Given the description of an element on the screen output the (x, y) to click on. 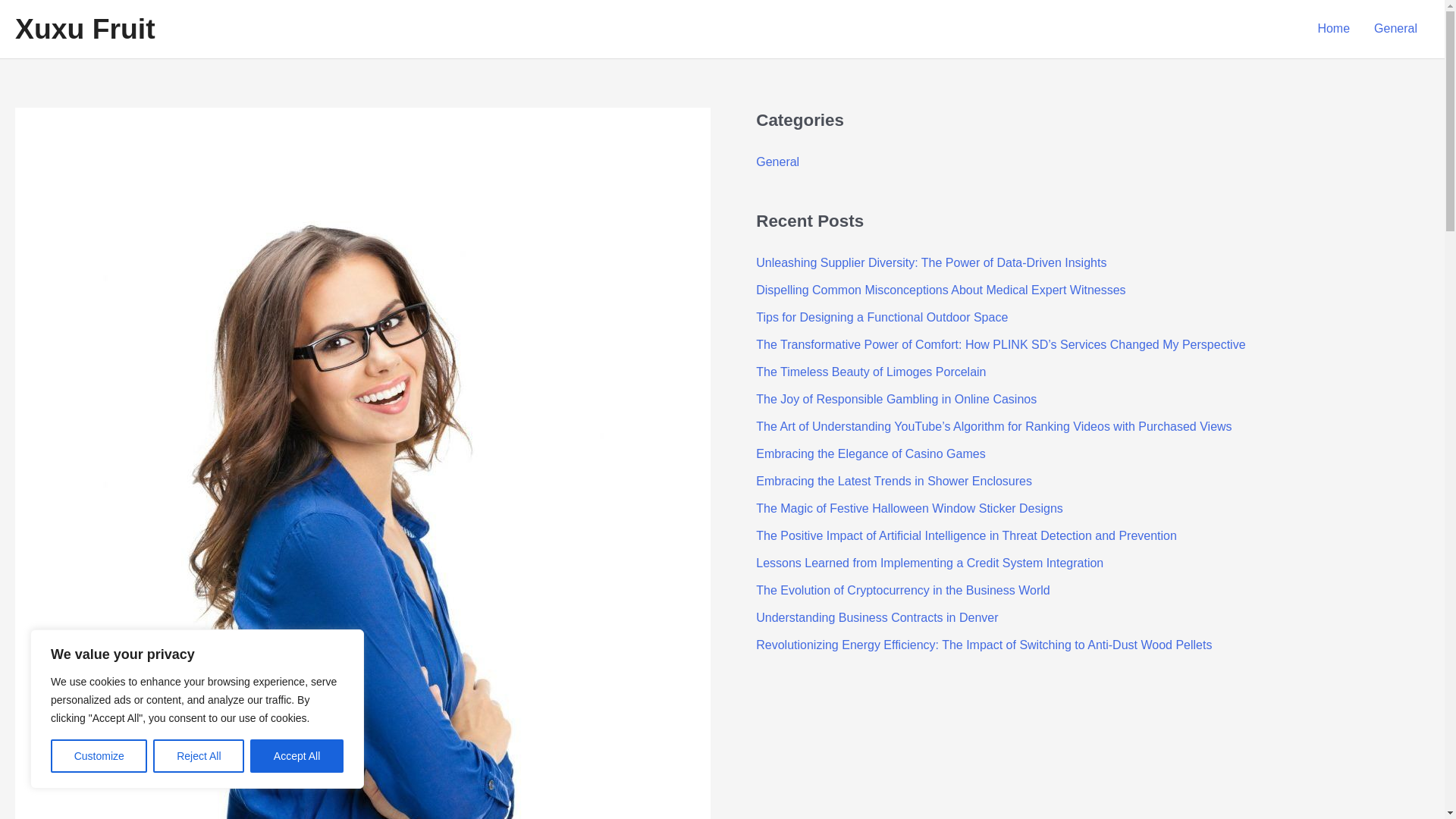
Accept All (296, 756)
Reject All (198, 756)
Home (1332, 28)
General (1395, 28)
Customize (98, 756)
Tips for Designing a Functional Outdoor Space (881, 317)
General (777, 161)
The Joy of Responsible Gambling in Online Casinos (895, 399)
Xuxu Fruit (84, 29)
The Timeless Beauty of Limoges Porcelain (870, 371)
